Given the description of an element on the screen output the (x, y) to click on. 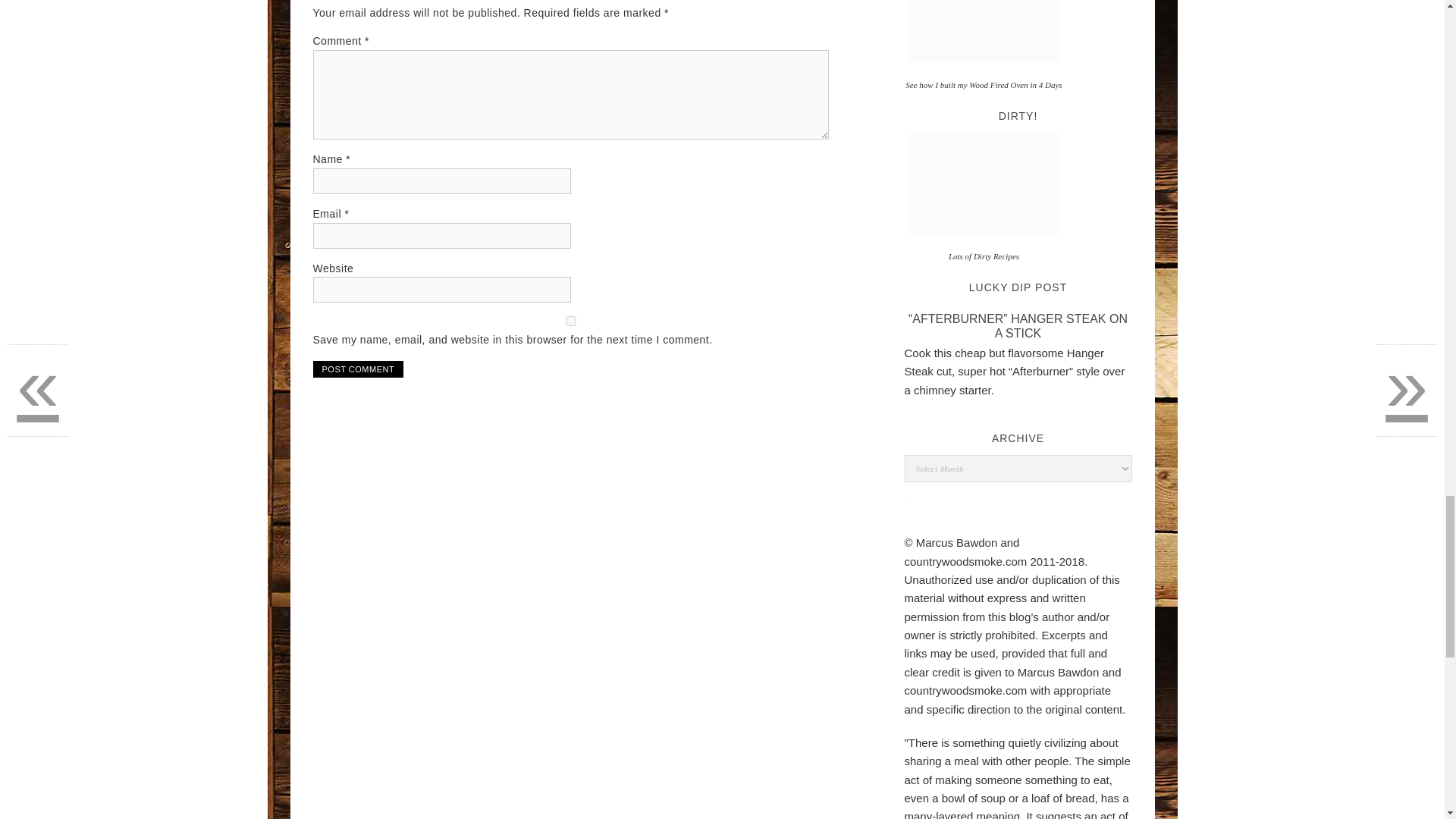
Post Comment (358, 369)
yes (570, 320)
Post Comment (358, 369)
Lots of Dirty Recipes (983, 182)
